Given the description of an element on the screen output the (x, y) to click on. 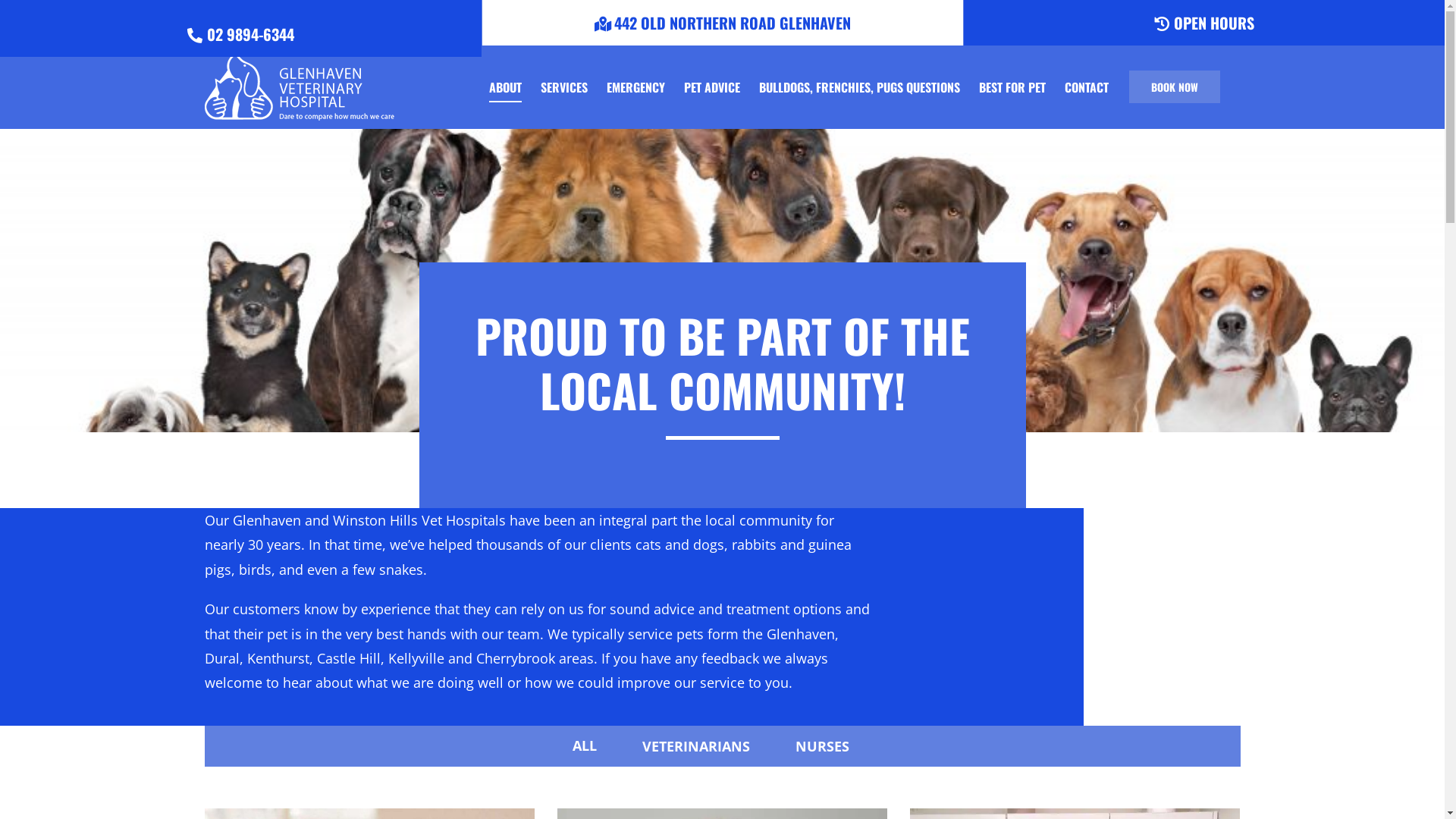
PET ADVICE Element type: text (712, 86)
SERVICES Element type: text (562, 86)
EMERGENCY Element type: text (635, 86)
02 9894-6344 Element type: text (240, 28)
VETERINARIANS Element type: text (695, 745)
ALL Element type: text (584, 745)
CONTACT Element type: text (1086, 86)
BOOK NOW Element type: text (1173, 86)
BULLDOGS, FRENCHIES, PUGS QUESTIONS Element type: text (858, 86)
BEST FOR PET Element type: text (1011, 86)
ABOUT Element type: text (504, 86)
NURSES Element type: text (822, 745)
